Given the description of an element on the screen output the (x, y) to click on. 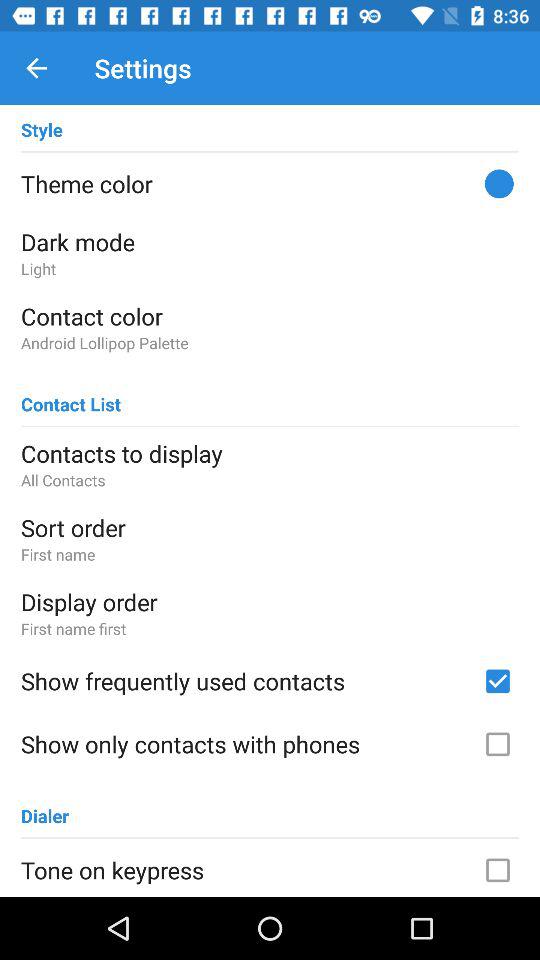
turn off item below the contact color icon (270, 342)
